Given the description of an element on the screen output the (x, y) to click on. 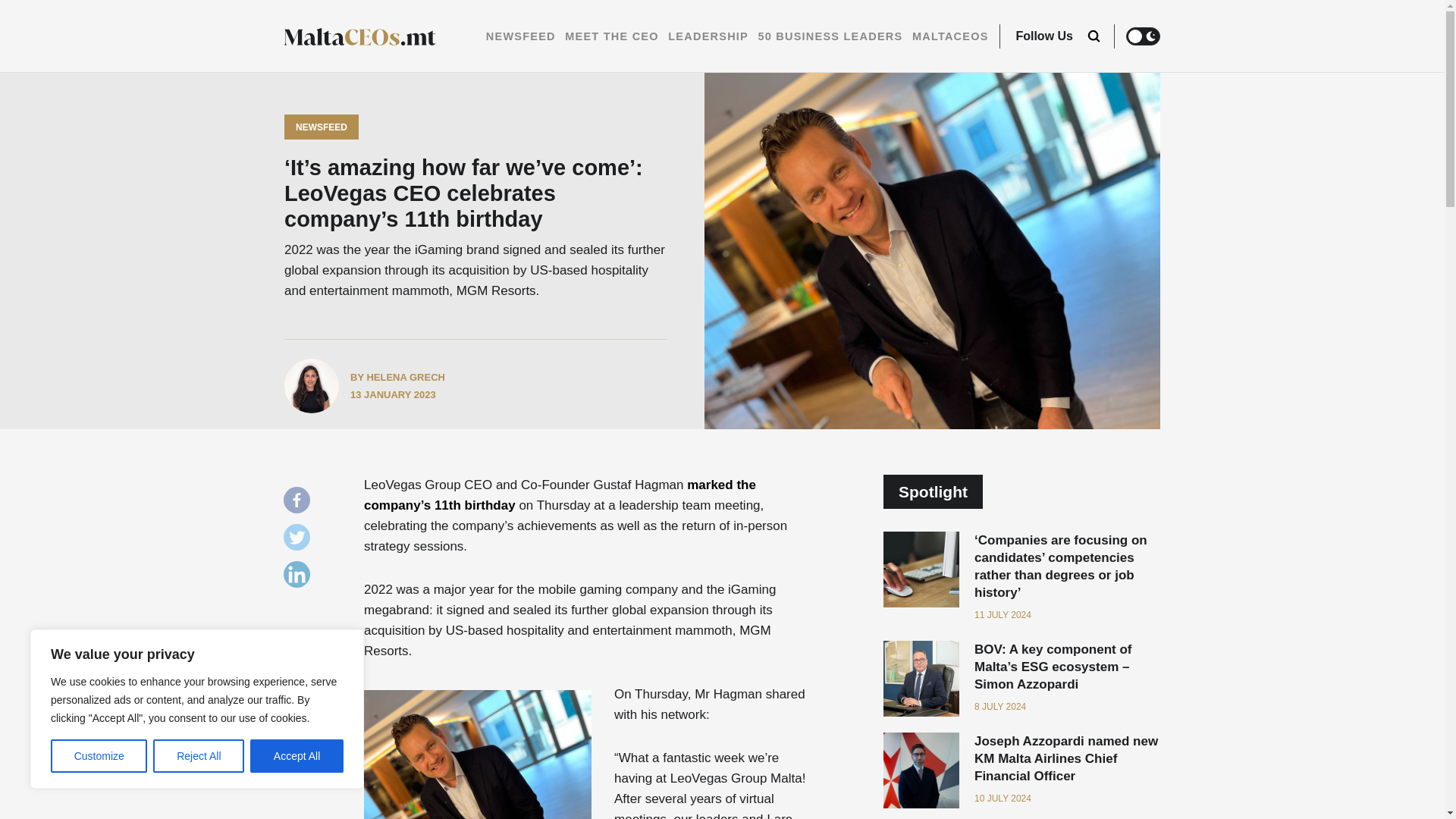
MALTACEOS (950, 36)
Accept All (296, 756)
Linkedin (300, 578)
50 BUSINESS LEADERS (829, 36)
LEADERSHIP (708, 36)
NEWSFEED (521, 36)
Reject All (198, 756)
Customize (98, 756)
Twitter (300, 540)
Facebook (300, 503)
MEET THE CEO (611, 36)
